Given the description of an element on the screen output the (x, y) to click on. 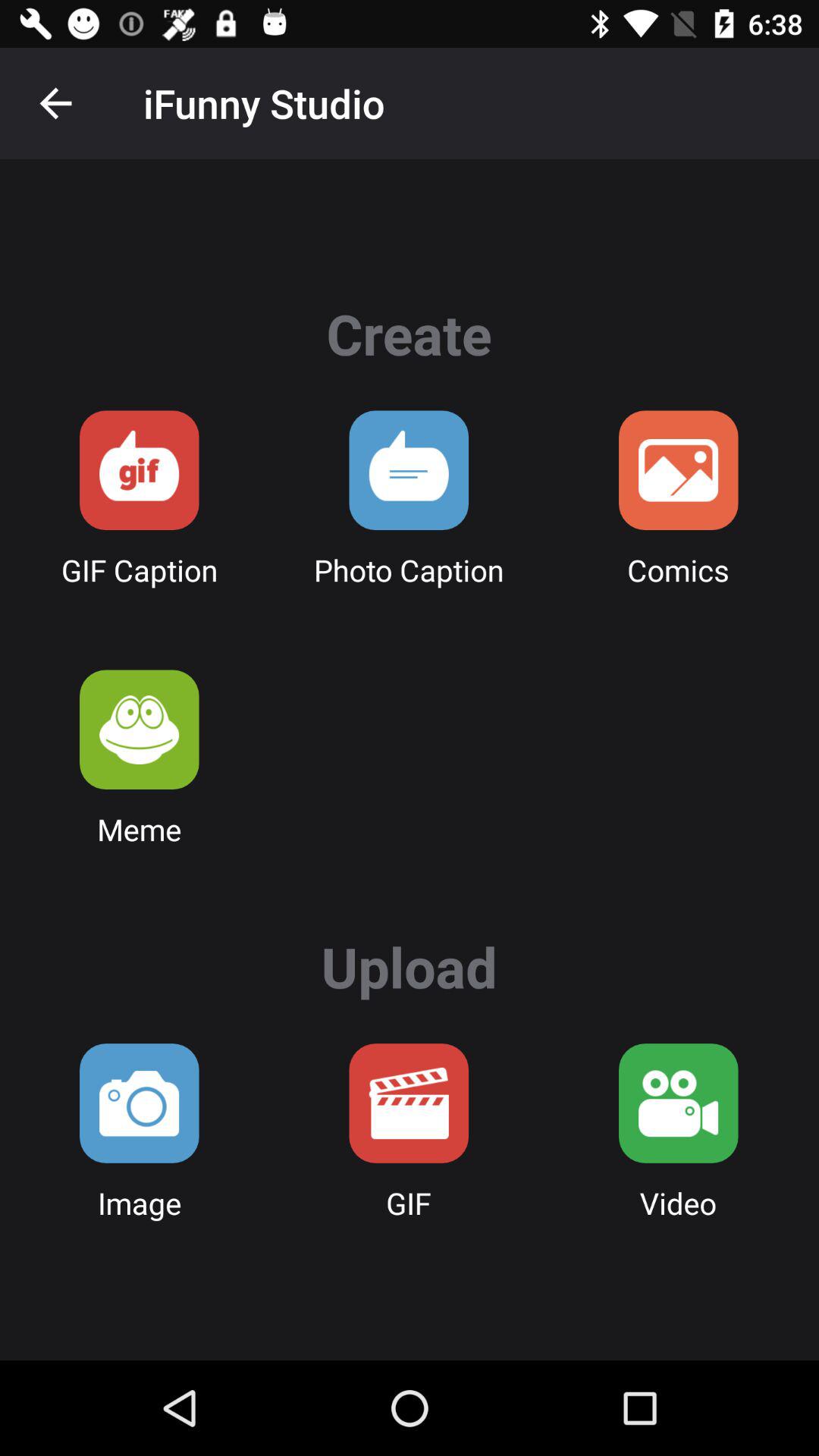
create a photo caption (408, 470)
